Given the description of an element on the screen output the (x, y) to click on. 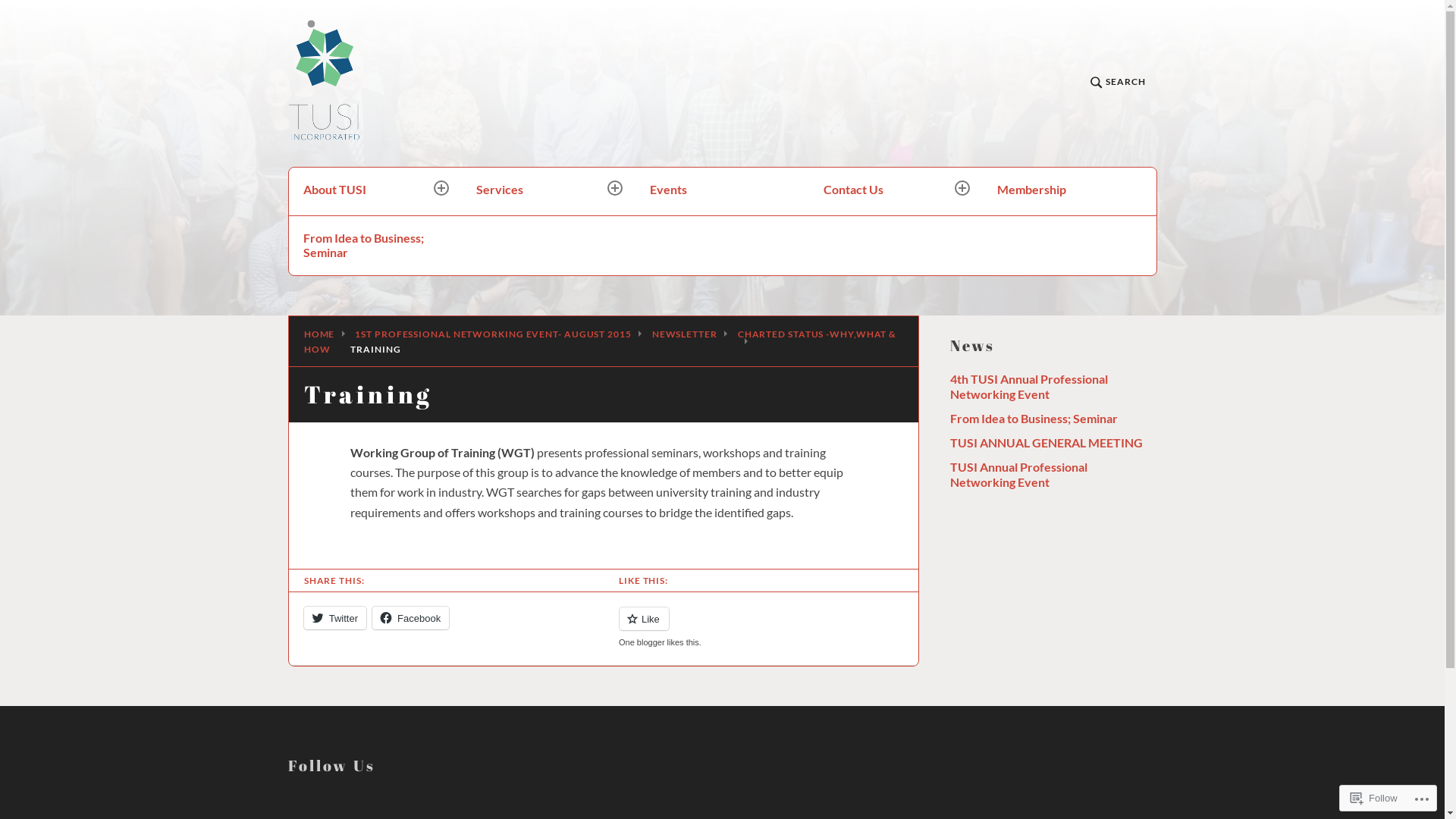
From Idea to Business; Seminar Element type: text (375, 245)
Twitter Element type: text (335, 617)
CHARTED STATUS -WHY,WHAT & HOW Element type: text (600, 341)
4th TUSI Annual Professional Networking Event Element type: text (1028, 386)
Contact Us Element type: text (895, 191)
Events Element type: text (721, 191)
From Idea to Business; Seminar Element type: text (1033, 418)
TUSI Annual Professional Networking Event Element type: text (1017, 474)
HOME Element type: text (319, 333)
Facebook Element type: text (410, 617)
SEARCH Element type: text (1117, 83)
Like or Reblog Element type: hover (760, 627)
Services Element type: text (548, 191)
1ST PROFESSIONAL NETWORKING EVENT- AUGUST 2015 Element type: text (492, 333)
TUSI ANNUAL GENERAL MEETING Element type: text (1045, 442)
Search Element type: text (340, 187)
NEWSLETTER Element type: text (684, 333)
Follow Element type: text (1373, 797)
Membership Element type: text (1069, 191)
About TUSI Element type: text (375, 191)
